Given the description of an element on the screen output the (x, y) to click on. 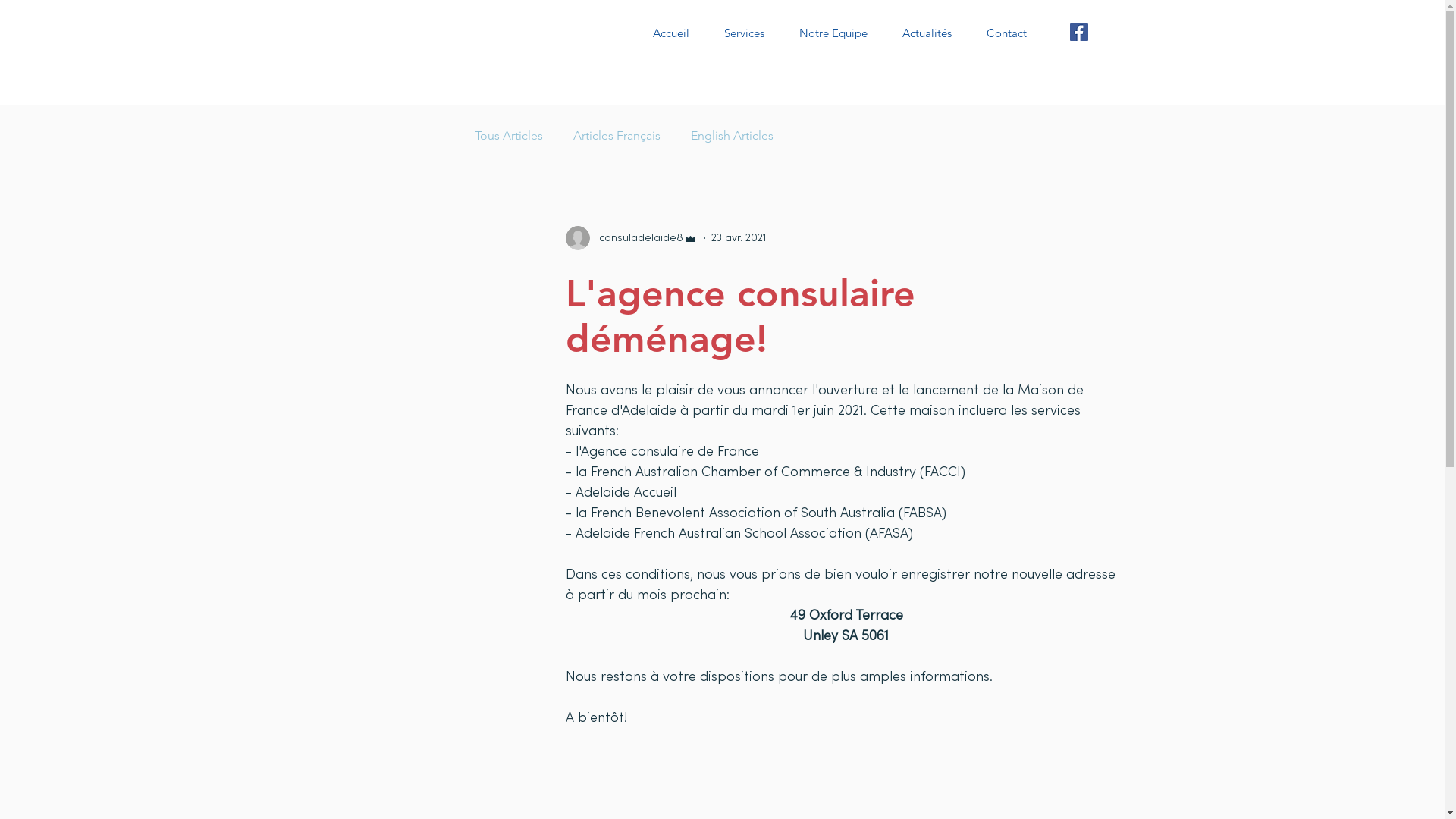
Contact Element type: text (1006, 32)
Services Element type: text (743, 32)
English Articles Element type: text (731, 134)
Tous Articles Element type: text (508, 134)
Accueil Element type: text (670, 32)
Notre Equipe Element type: text (832, 32)
